Given the description of an element on the screen output the (x, y) to click on. 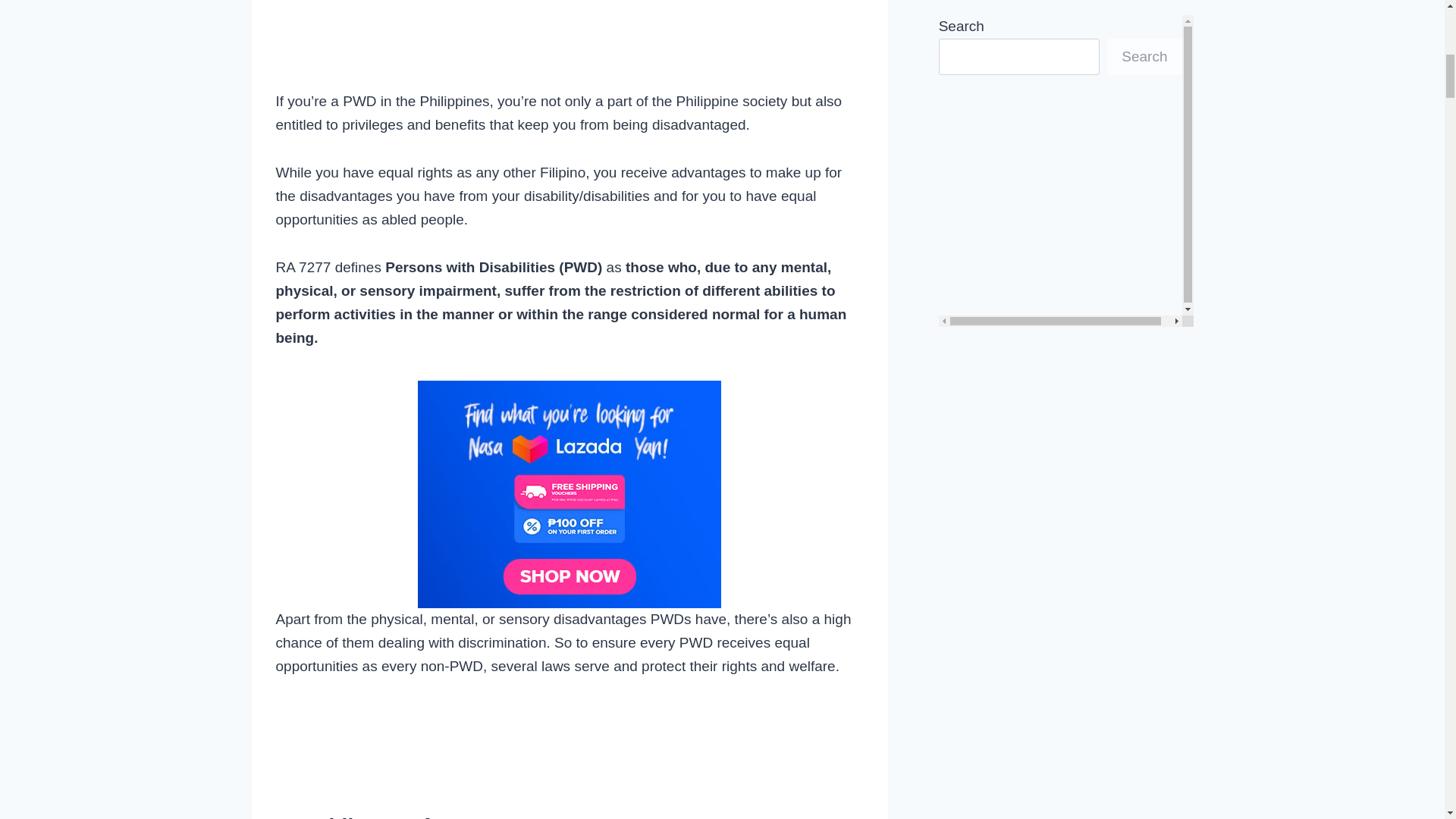
Advertisement (570, 42)
